Given the description of an element on the screen output the (x, y) to click on. 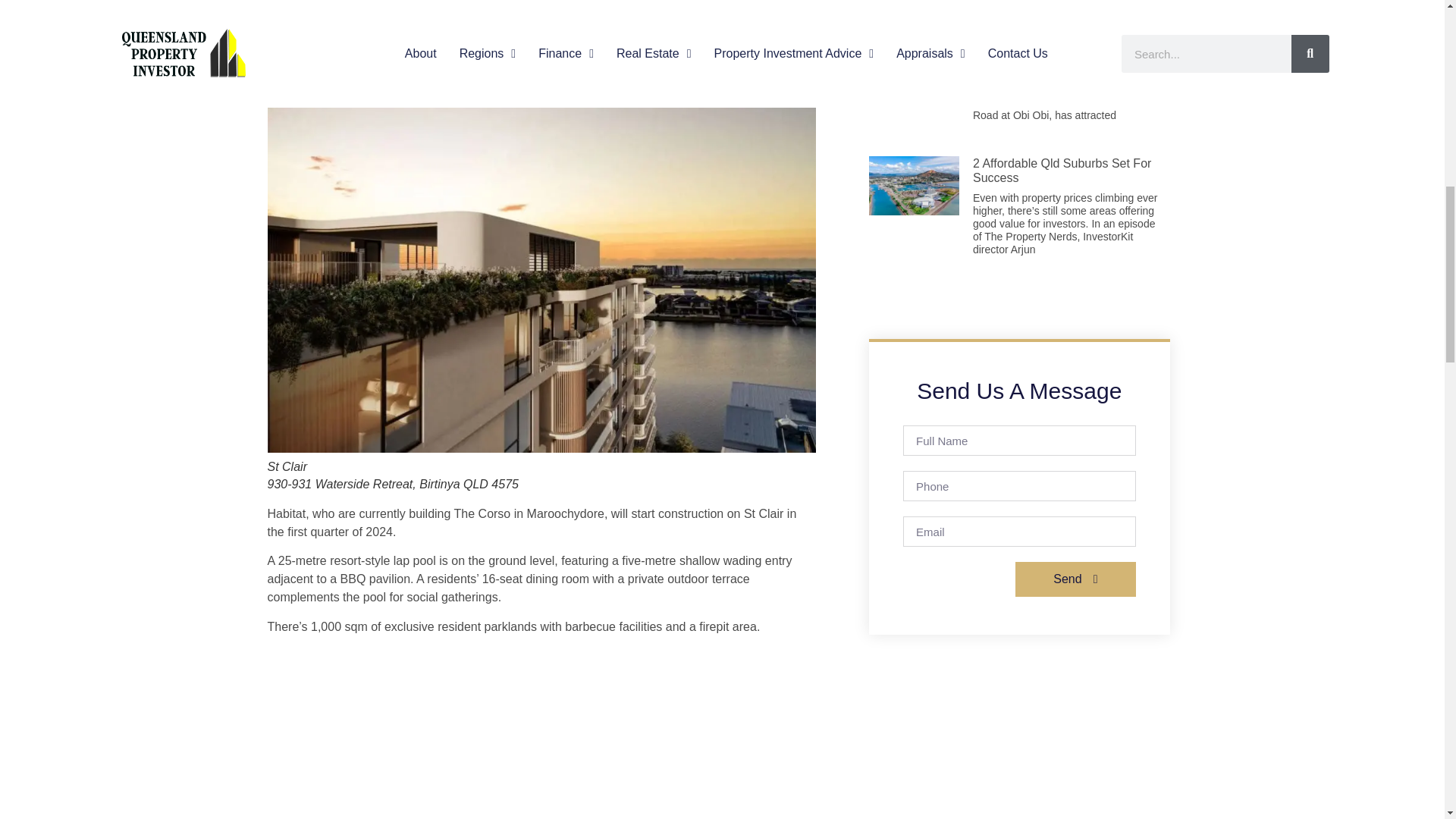
Habitat launch Birtinya apartment development St Clair 2 (540, 733)
